Given the description of an element on the screen output the (x, y) to click on. 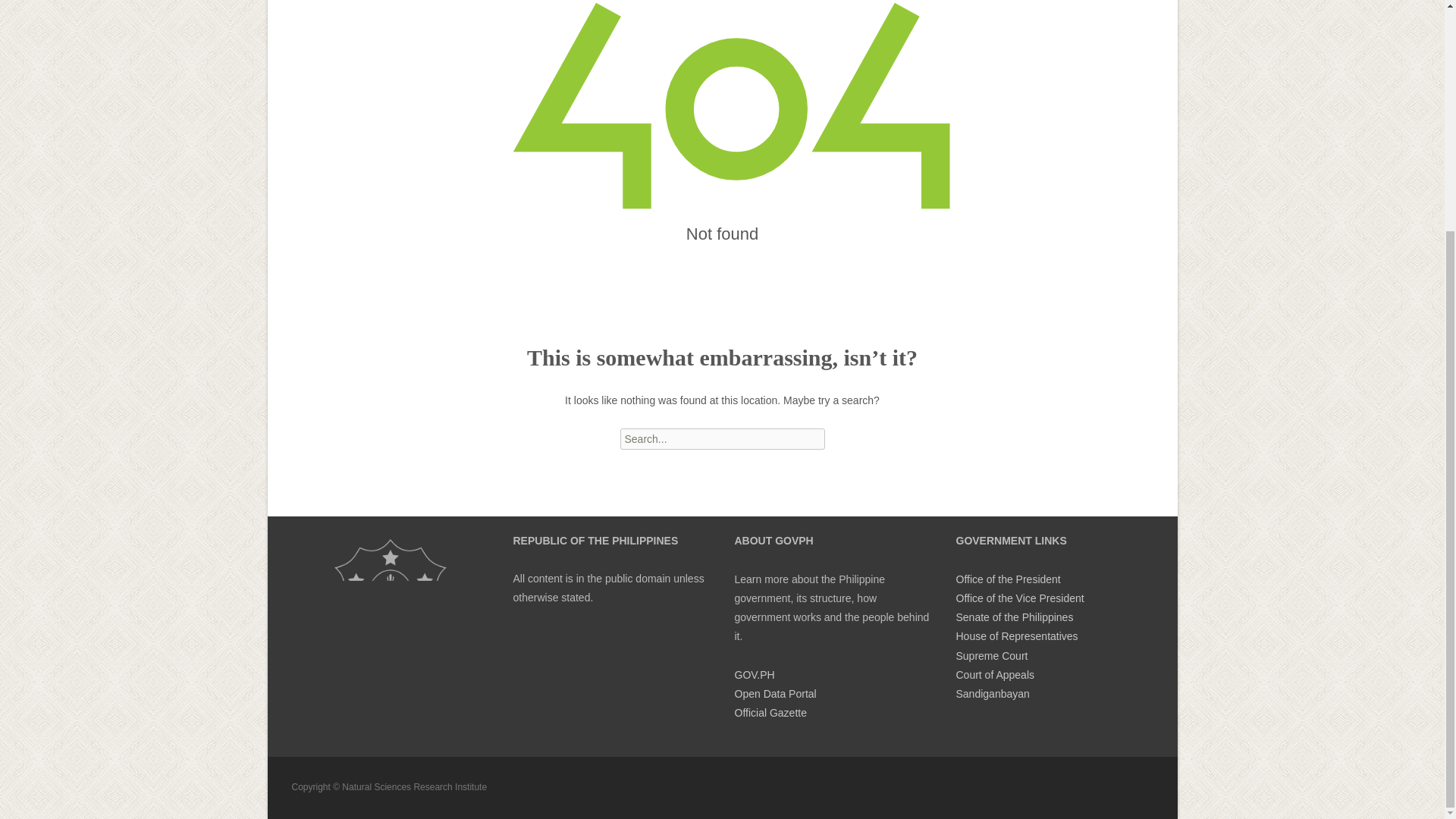
Office of the President (1007, 579)
Search for: (722, 438)
Court of Appeals (994, 674)
Open Data Portal (774, 693)
Office of the Vice President (1019, 598)
Senate of the Philippines (1014, 616)
Official Gazette (769, 712)
Sandiganbayan (992, 693)
GOV.PH (753, 674)
House of Representatives (1016, 635)
